Given the description of an element on the screen output the (x, y) to click on. 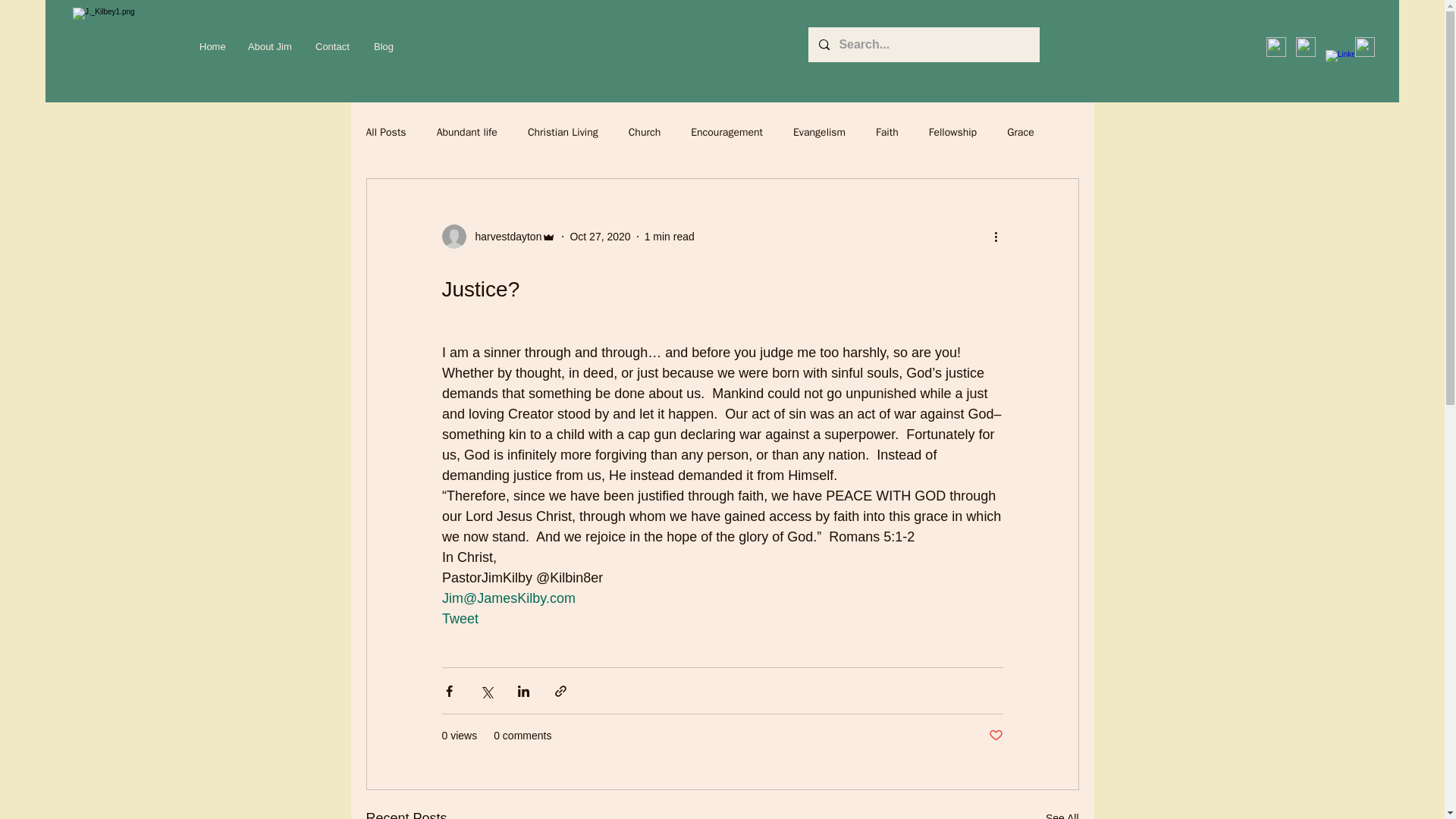
Fellowship (952, 132)
Church (644, 132)
Faith (887, 132)
Contact (333, 46)
Oct 27, 2020 (599, 236)
Evangelism (819, 132)
See All (1061, 813)
About Jim (269, 46)
1 min read (669, 236)
All Posts (385, 132)
